Given the description of an element on the screen output the (x, y) to click on. 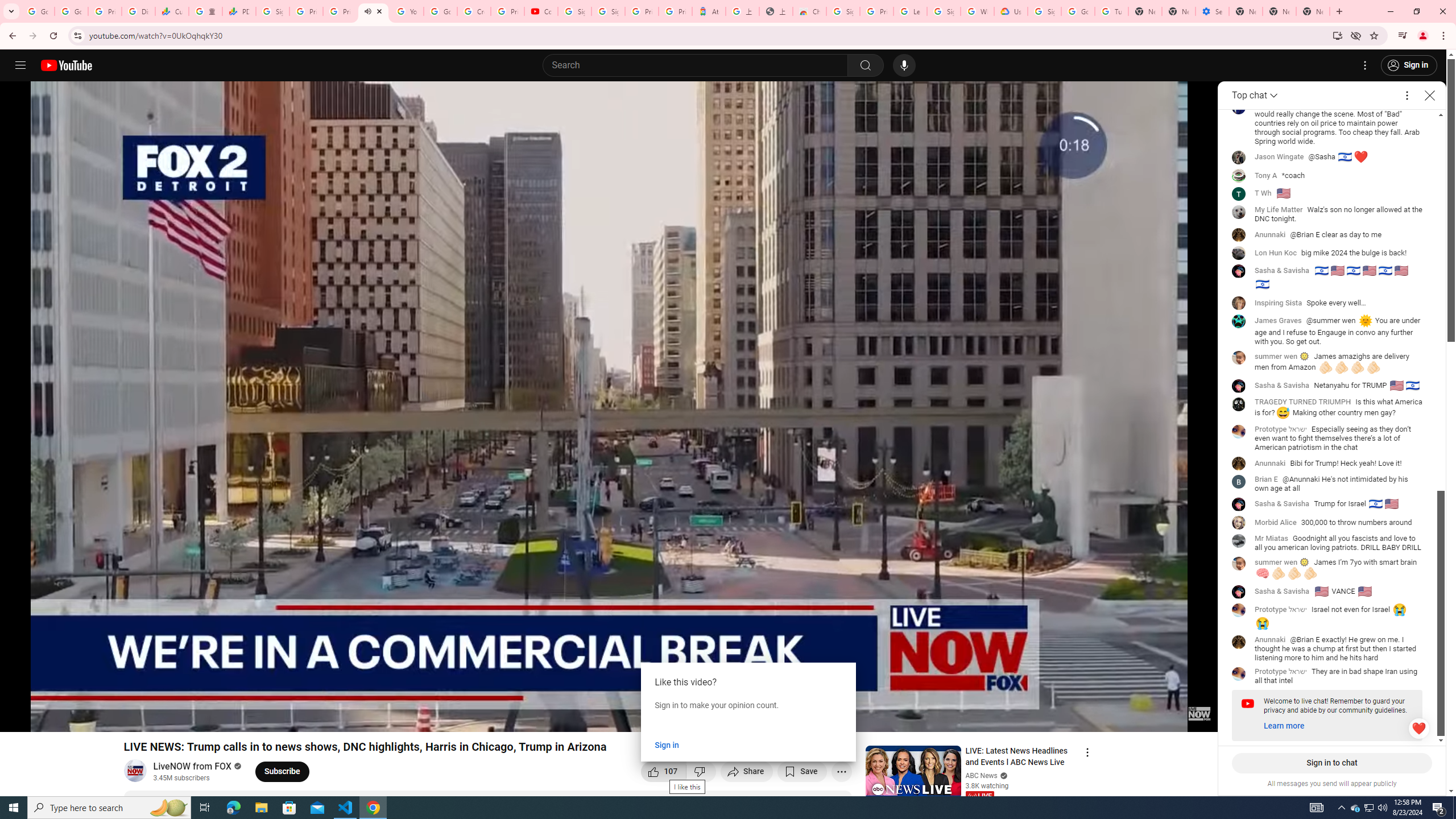
Share (746, 771)
Search with your voice (903, 65)
Live Chat mode selection (1256, 95)
Verified (1002, 775)
YouTube (406, 11)
Sign in - Google Accounts (943, 11)
